Given the description of an element on the screen output the (x, y) to click on. 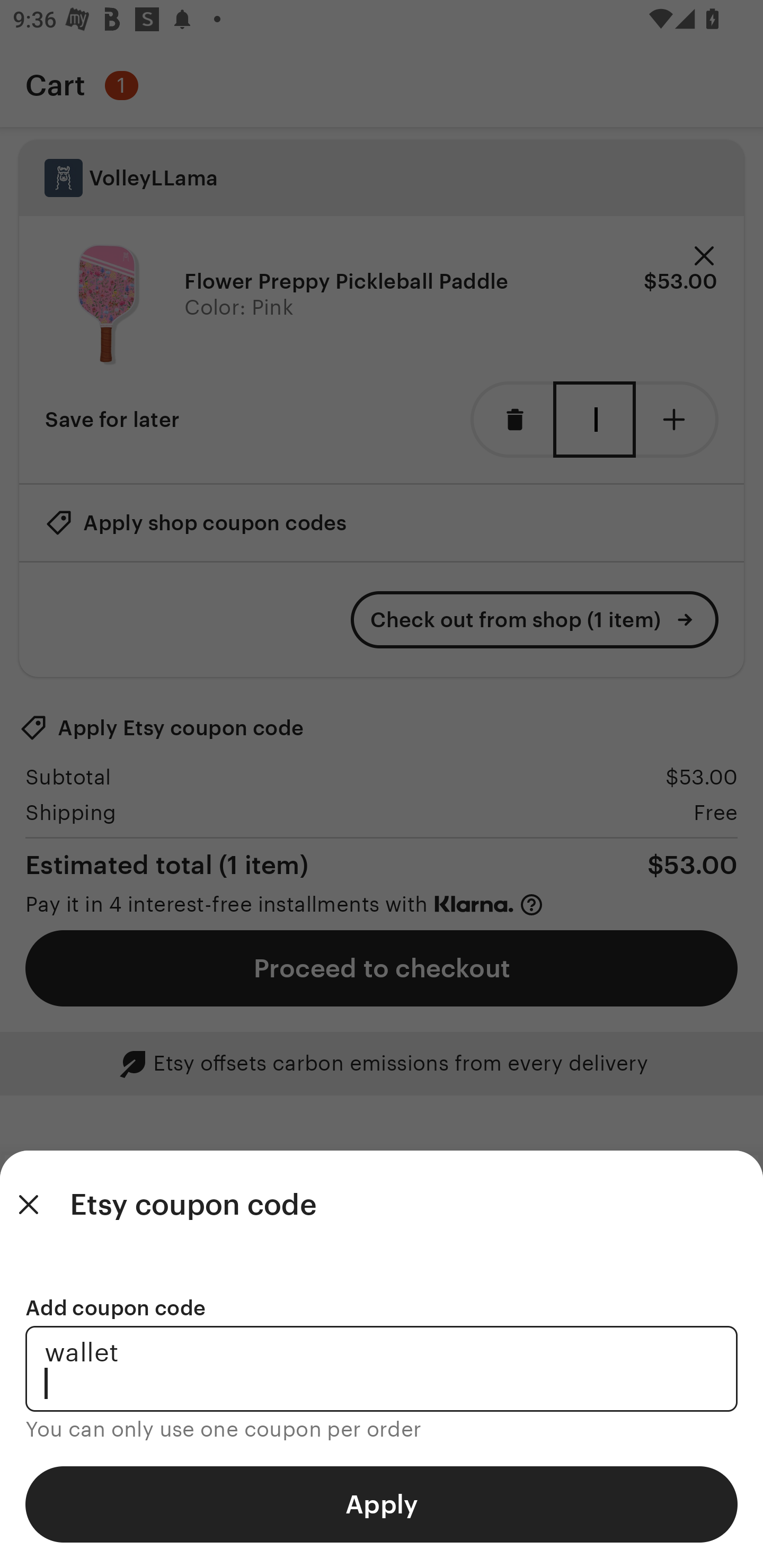
wallet
 (381, 1368)
Apply (381, 1504)
